Given the description of an element on the screen output the (x, y) to click on. 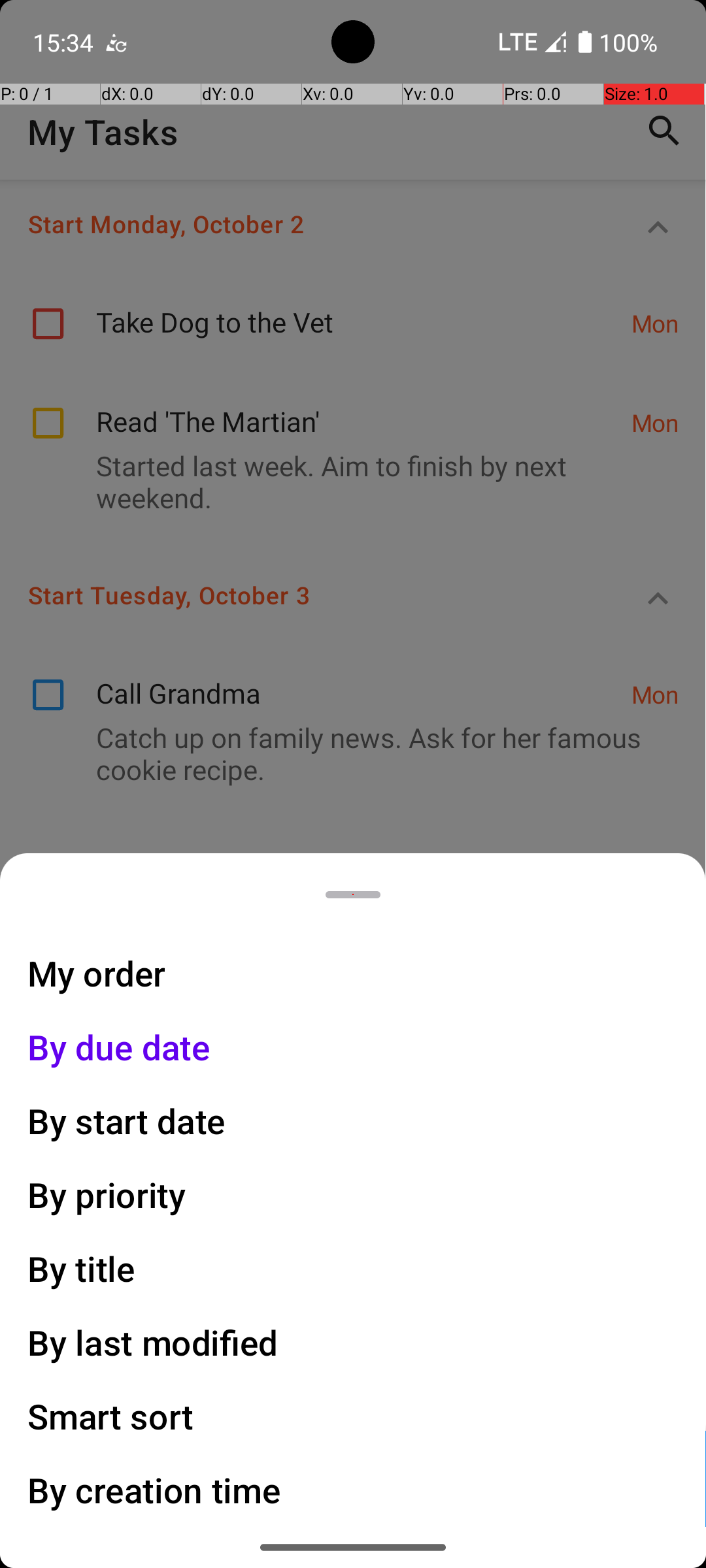
My order Element type: android.widget.TextView (96, 972)
By due date Element type: android.widget.TextView (119, 1046)
By start date Element type: android.widget.TextView (126, 1120)
By priority Element type: android.widget.TextView (106, 1194)
By title Element type: android.widget.TextView (81, 1268)
By last modified Element type: android.widget.TextView (152, 1342)
Smart sort Element type: android.widget.TextView (110, 1415)
By creation time Element type: android.widget.TextView (154, 1489)
